Given the description of an element on the screen output the (x, y) to click on. 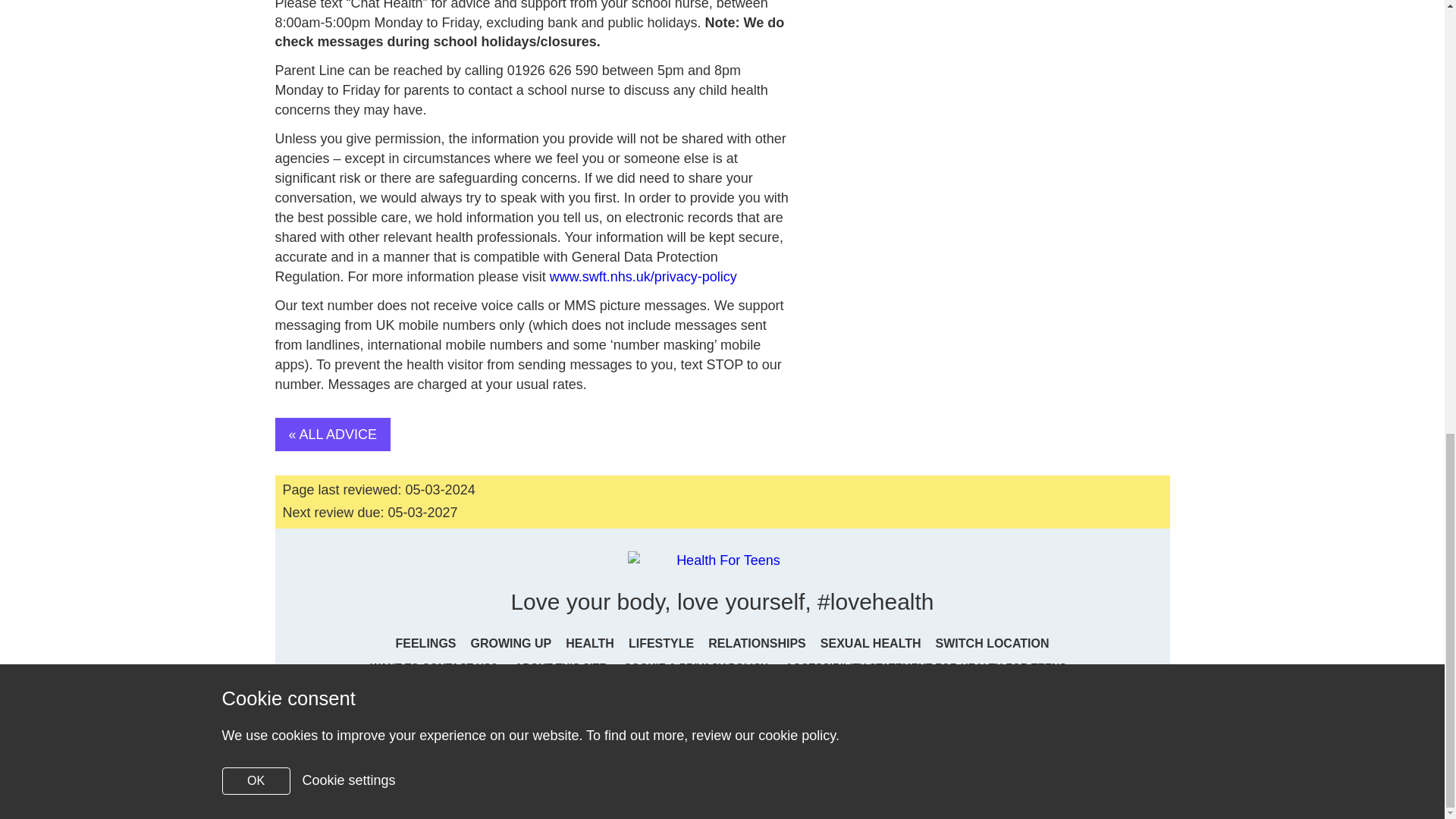
It's what you're here for (590, 643)
Taking care of stuff 'down there' (871, 643)
Everything changes, here's what you need to know (510, 643)
The way we live and how it affects our health (661, 643)
From friends, to boyfriends, girlfriends and all the rest! (756, 643)
